Given the description of an element on the screen output the (x, y) to click on. 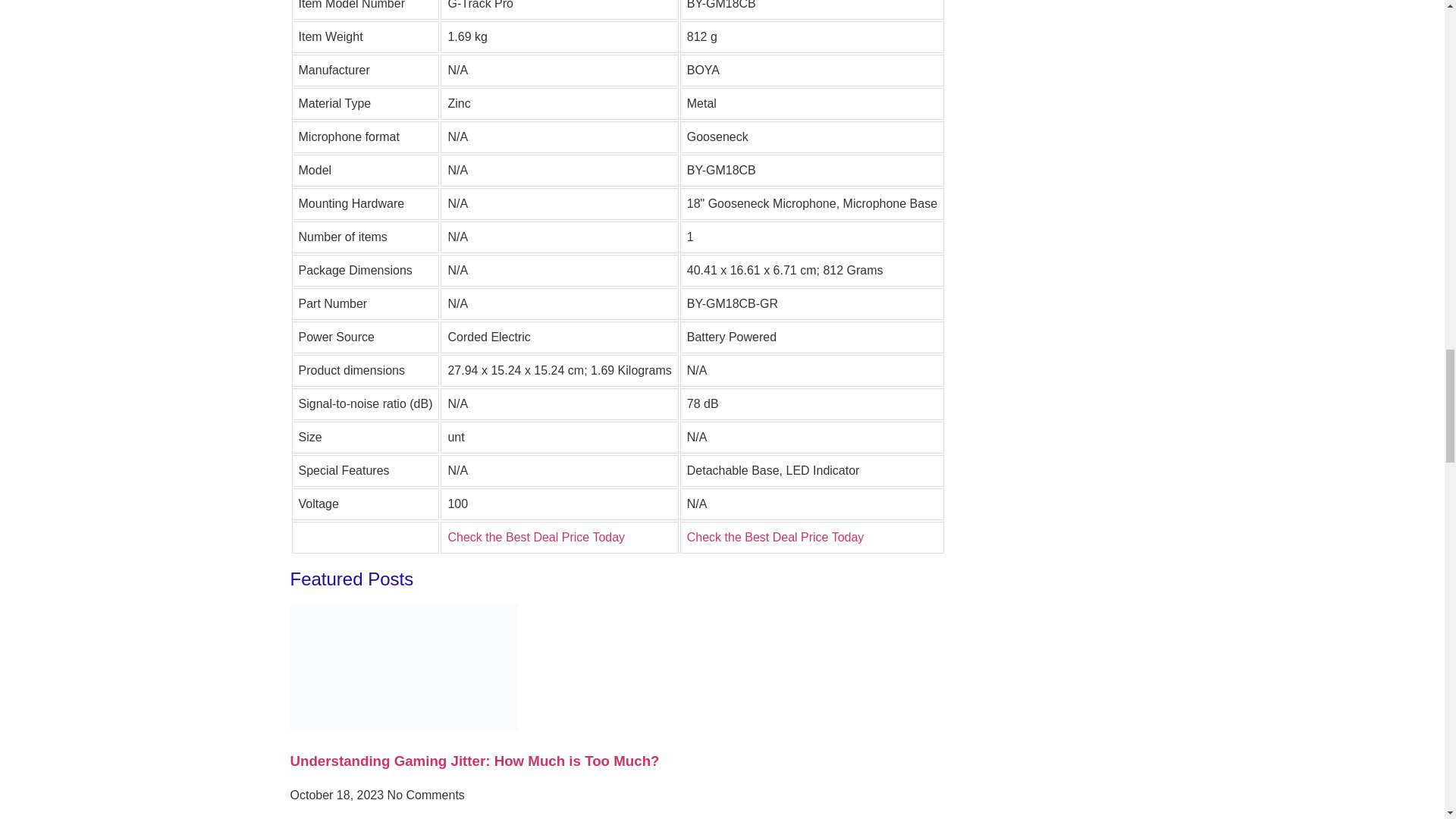
Understanding Gaming Jitter: How Much is Too Much? (474, 760)
Check the Best Deal Price Today (535, 536)
Check the Best Deal Price Today (775, 536)
